Given the description of an element on the screen output the (x, y) to click on. 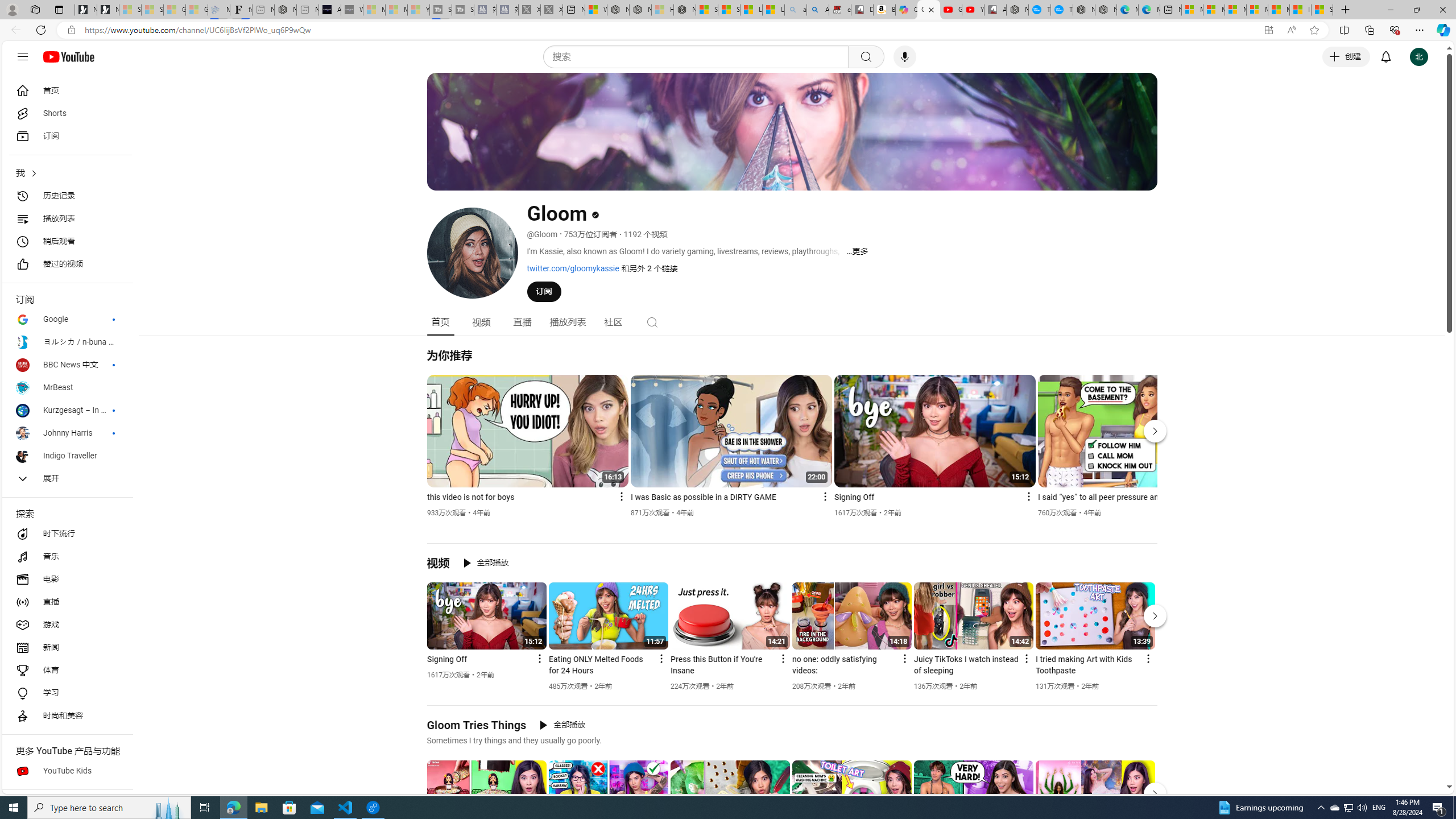
Nordace - My Account (1017, 9)
AI Voice Changer for PC and Mac - Voice.ai (330, 9)
twitter.com/gloomykassie (572, 268)
